Given the description of an element on the screen output the (x, y) to click on. 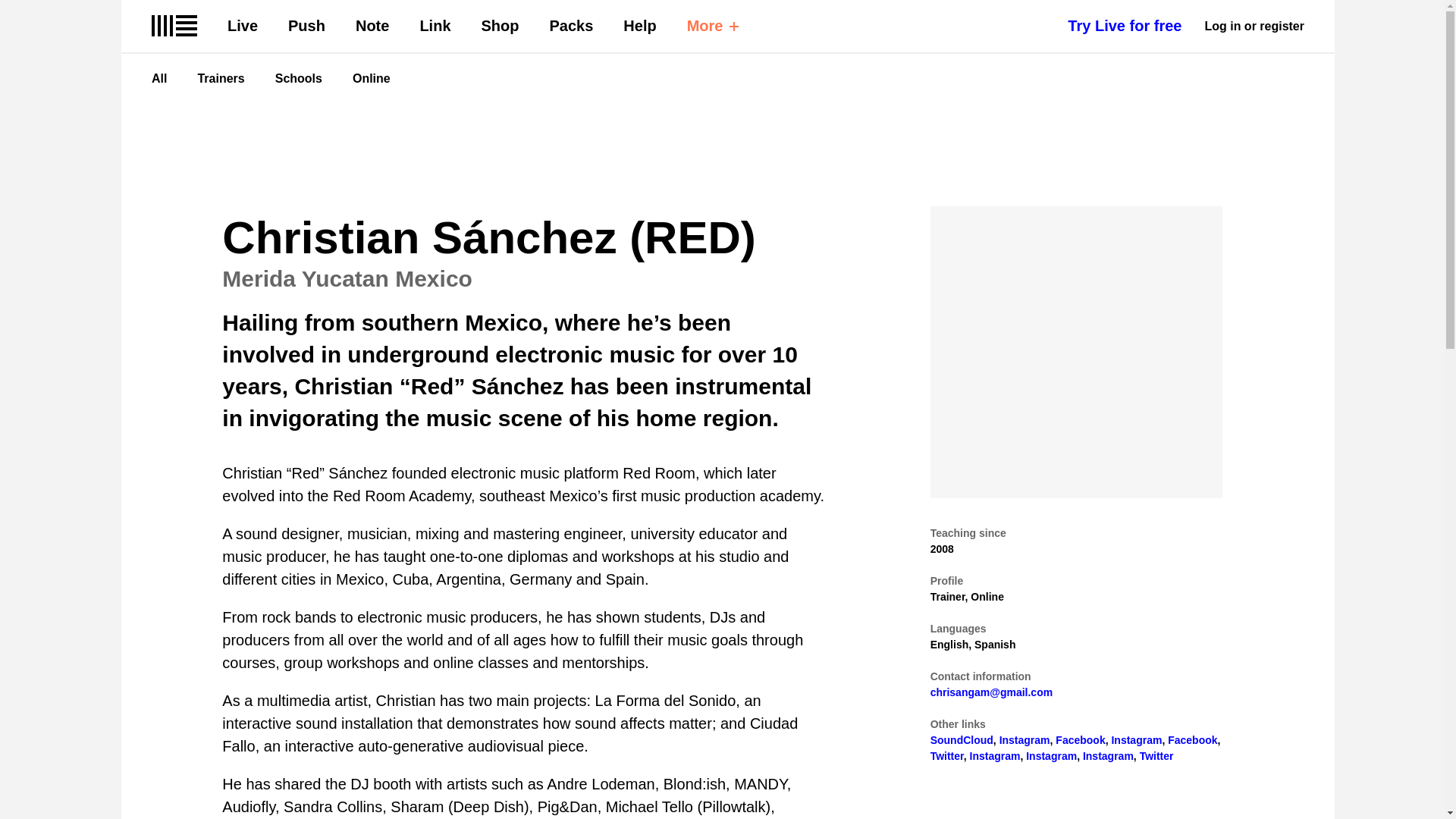
Try Live for free (1123, 25)
Online (371, 78)
All (159, 78)
Help (639, 25)
Log in or register (1254, 25)
Schools (298, 78)
Packs (572, 25)
Shop (500, 25)
Push (306, 25)
Ableton Homepage (173, 25)
